Given the description of an element on the screen output the (x, y) to click on. 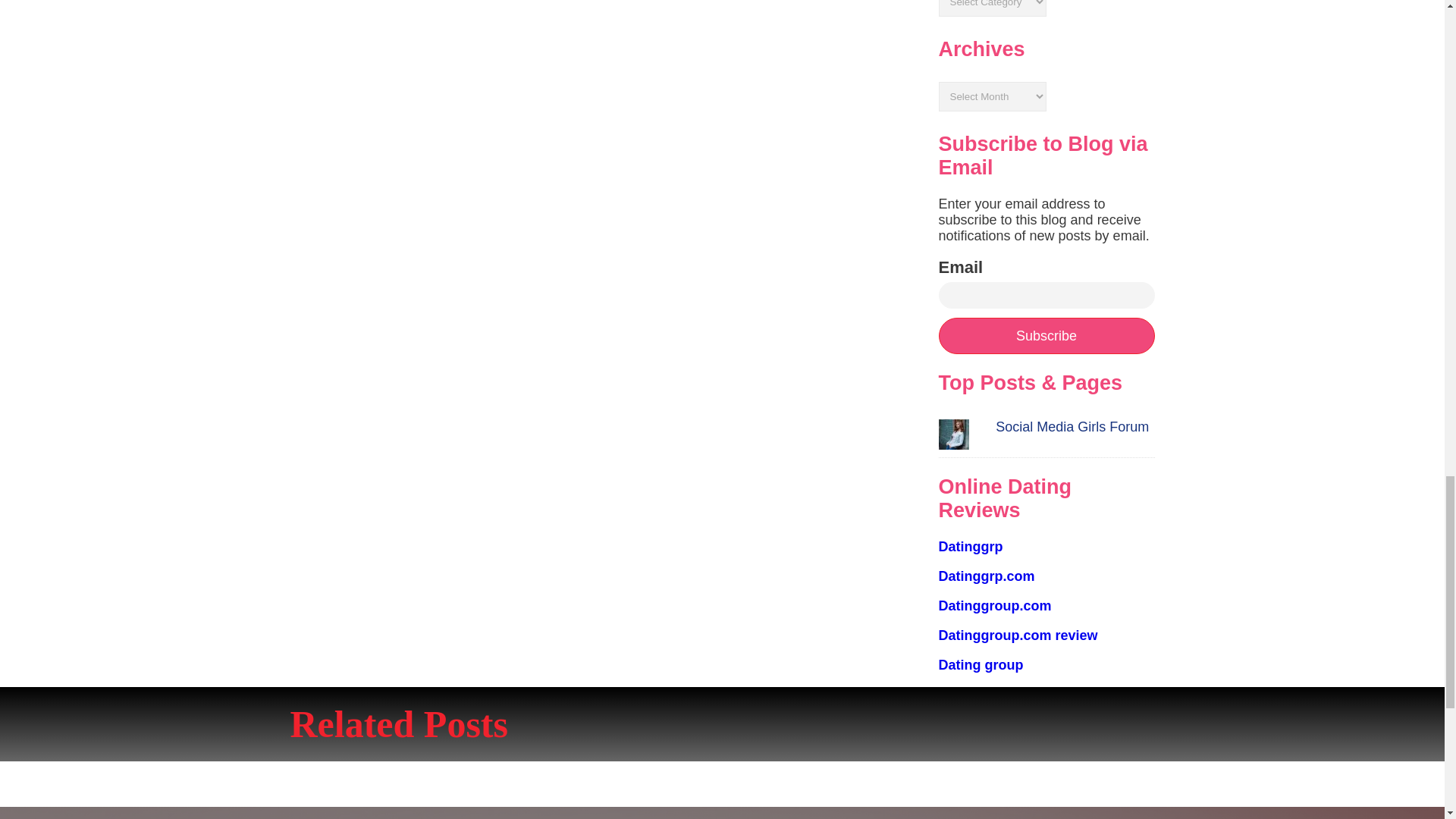
Social Media Girls Forum (1071, 426)
Datinggrp.com (987, 575)
Datinggroup.com (995, 605)
Datinggrp (971, 546)
Social Media Girls Forum (1071, 426)
Datinggroup.com review (1018, 635)
Dating group (981, 664)
Subscribe (1046, 335)
Subscribe (1046, 335)
